Given the description of an element on the screen output the (x, y) to click on. 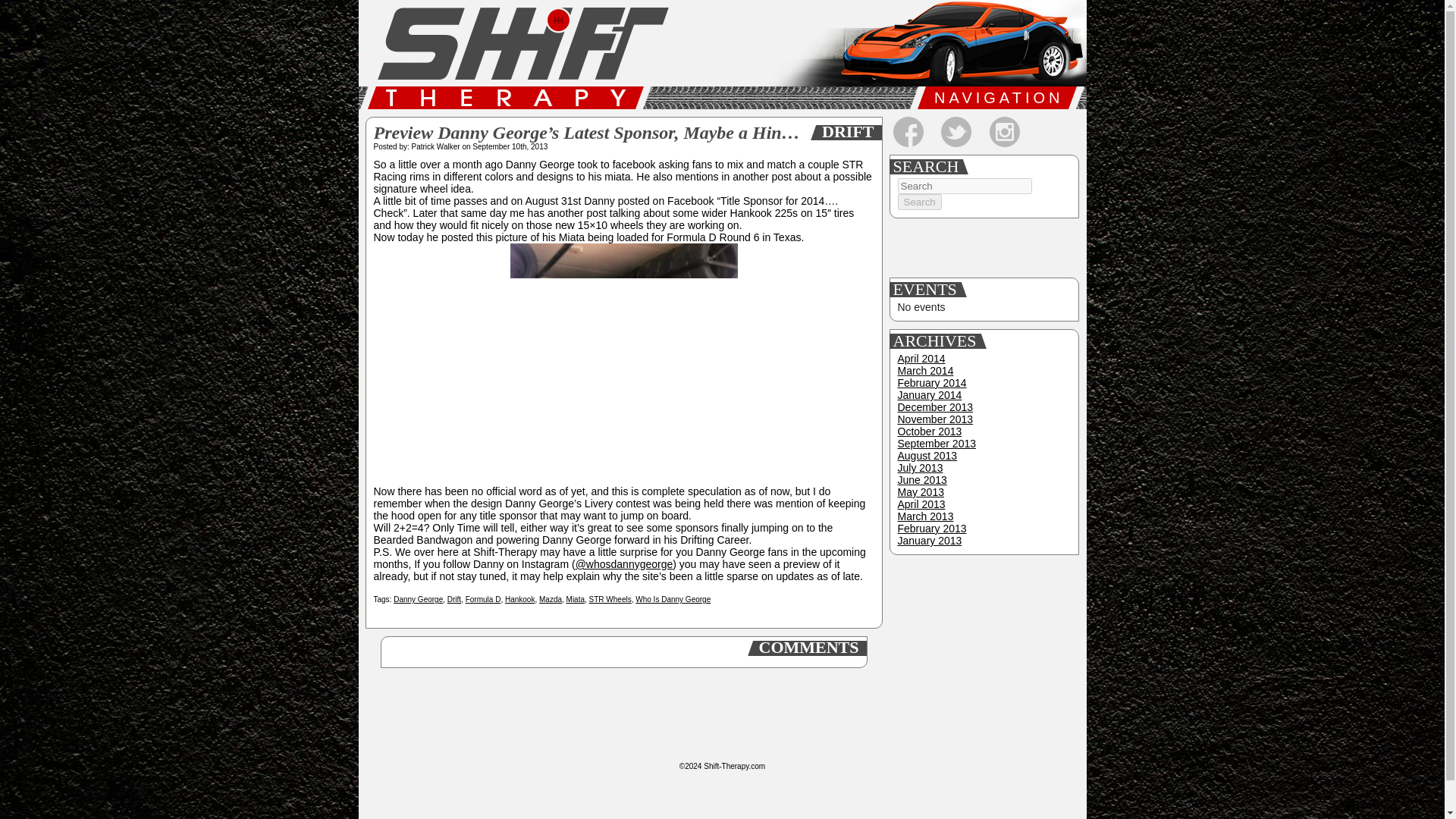
January 2014 (930, 395)
Advertisement (983, 657)
Advertisement (985, 248)
Search (920, 201)
May 2013 (920, 491)
December 2013 (936, 407)
Twitter (955, 132)
January 2013 (930, 540)
April 2013 (921, 503)
Search (920, 201)
STR Wheels (610, 599)
Facebook (908, 132)
July 2013 (920, 467)
November 2013 (936, 419)
Drift (453, 599)
